Given the description of an element on the screen output the (x, y) to click on. 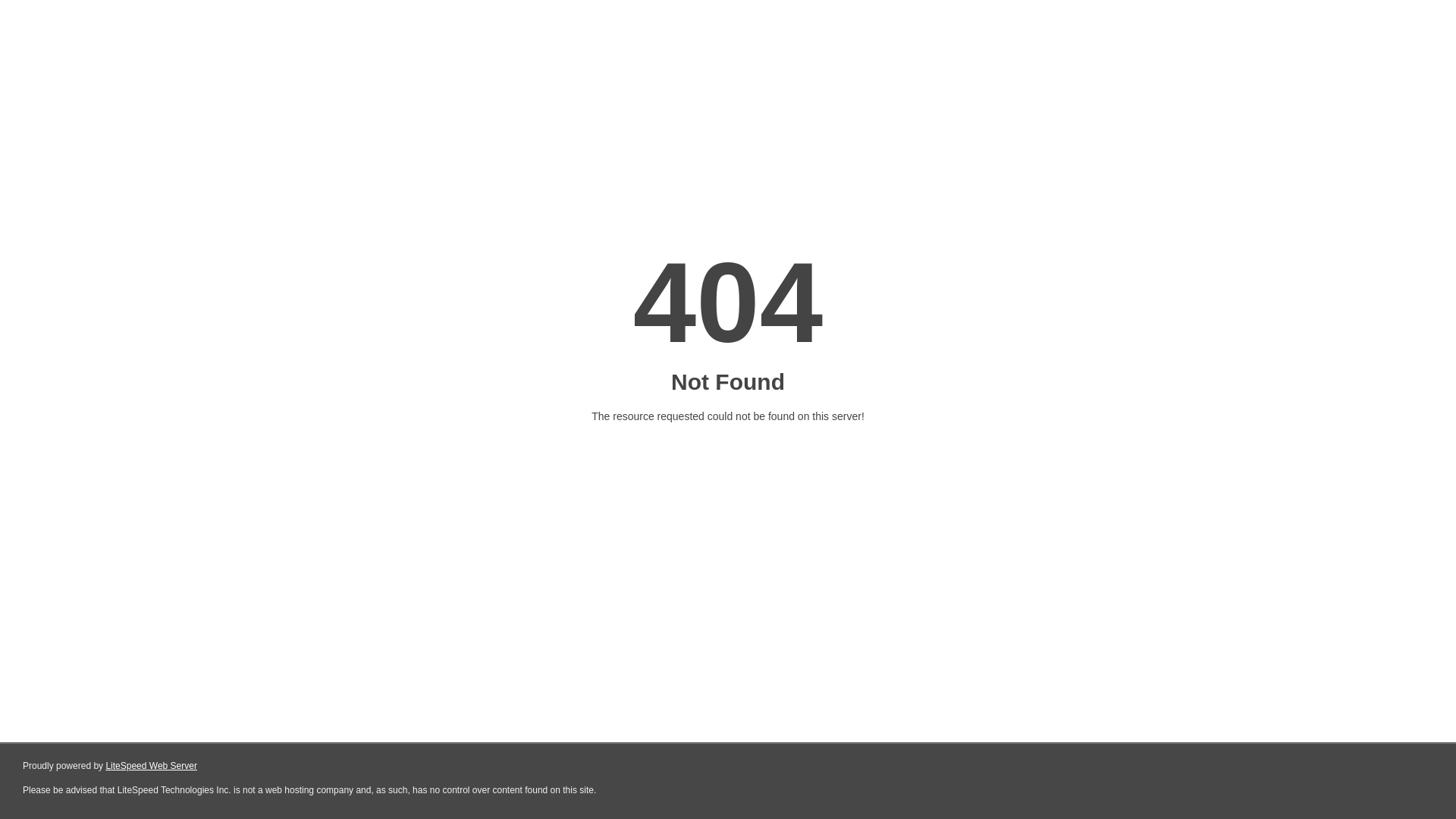
LiteSpeed Web Server Element type: text (151, 765)
